Given the description of an element on the screen output the (x, y) to click on. 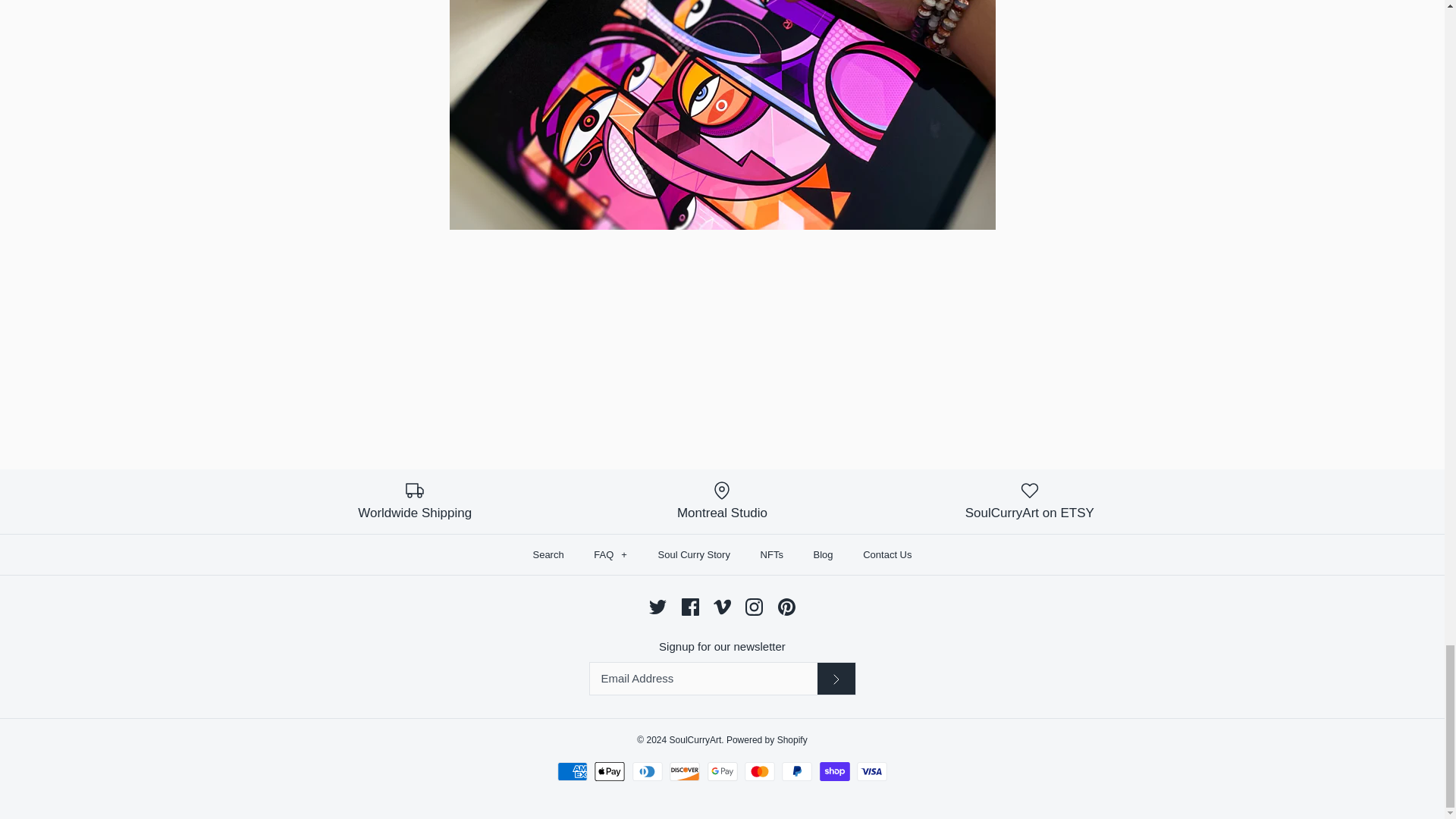
Google Pay (721, 771)
Facebook (689, 606)
Pinterest (785, 606)
Visa (871, 771)
Discover (684, 771)
Apple Pay (609, 771)
Twitter (657, 606)
PayPal (796, 771)
Diners Club (646, 771)
Mastercard (759, 771)
